Given the description of an element on the screen output the (x, y) to click on. 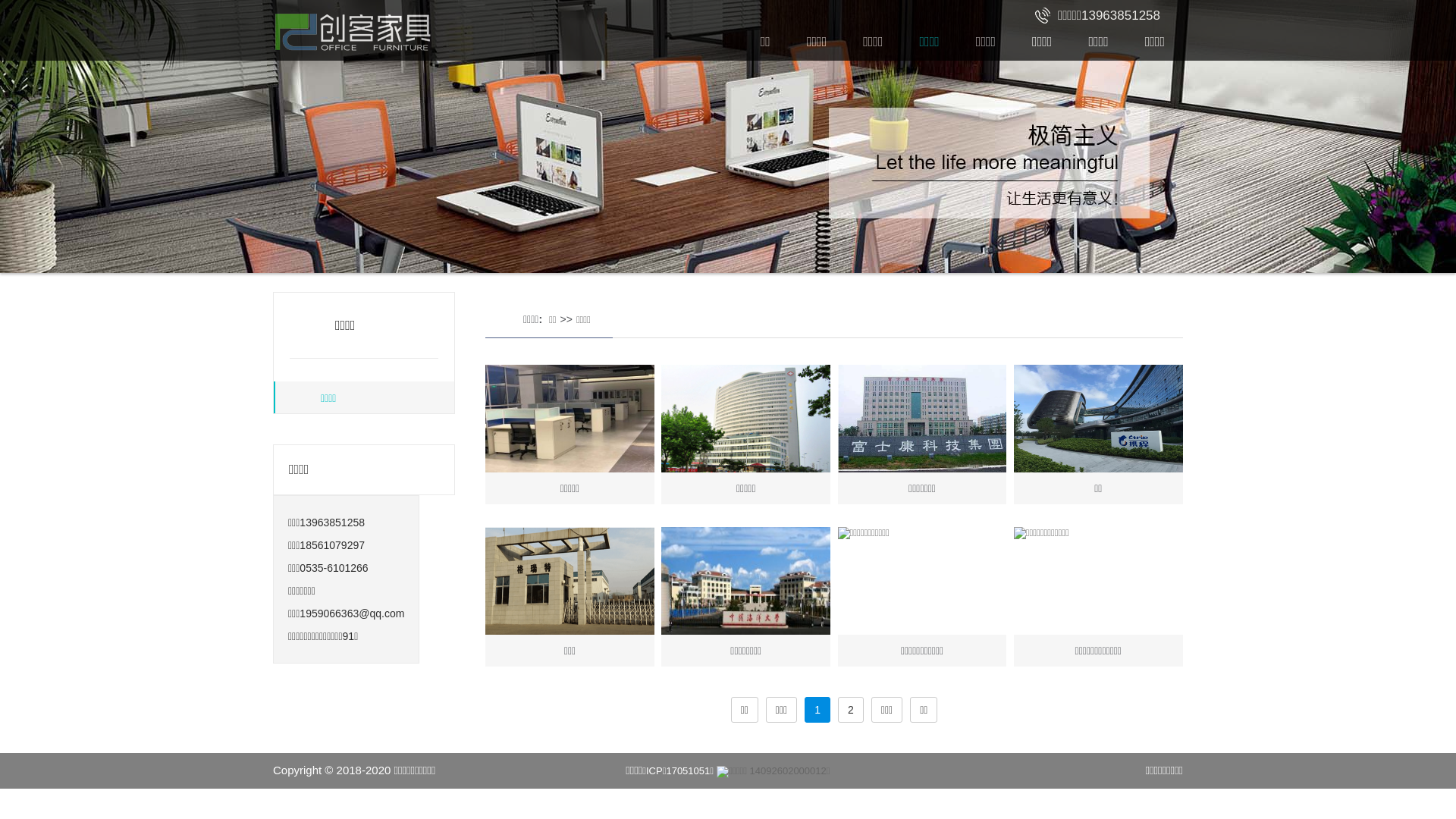
2 Element type: text (850, 709)
1 Element type: text (817, 709)
